Given the description of an element on the screen output the (x, y) to click on. 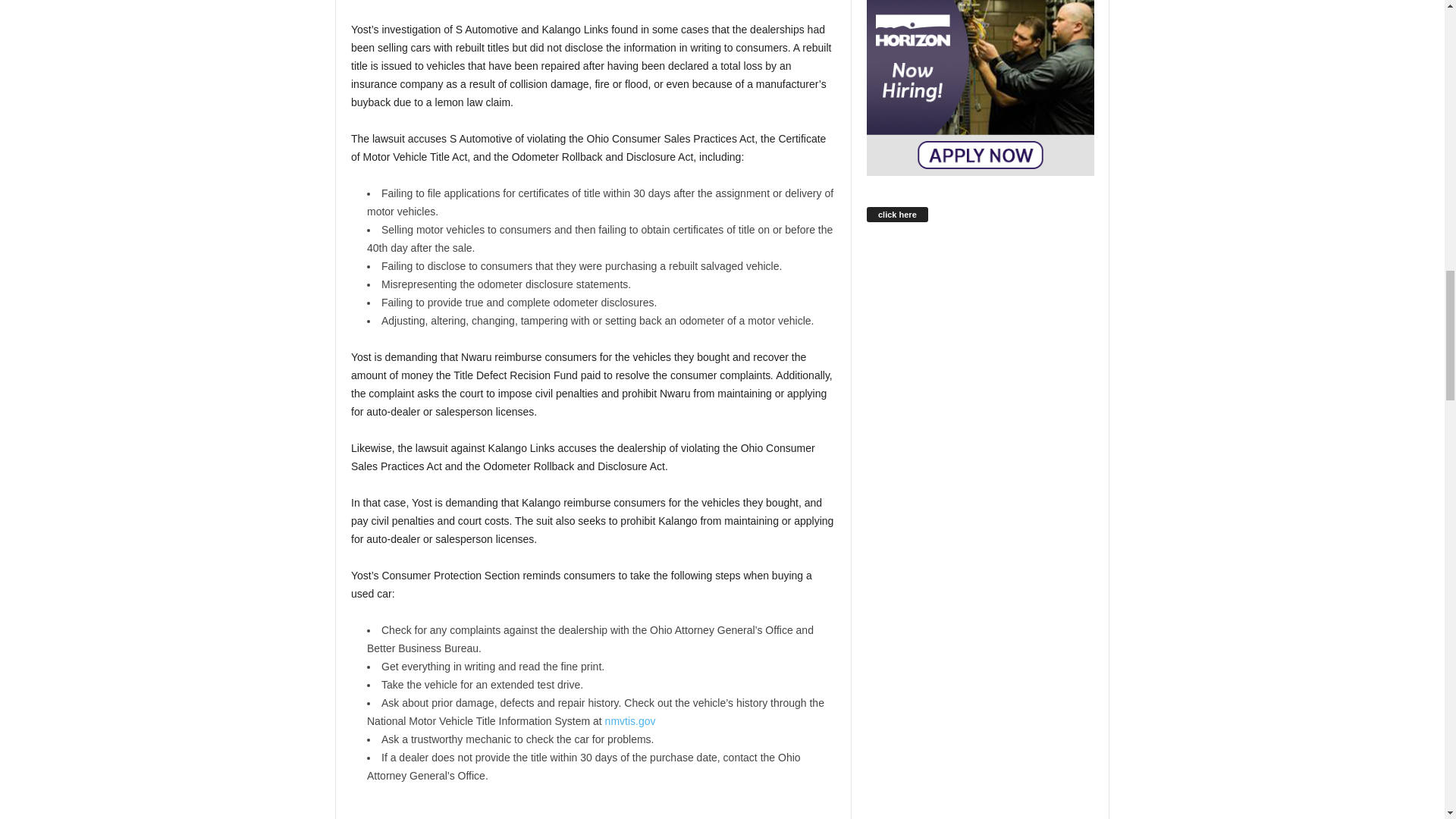
Click Me (592, 811)
